Given the description of an element on the screen output the (x, y) to click on. 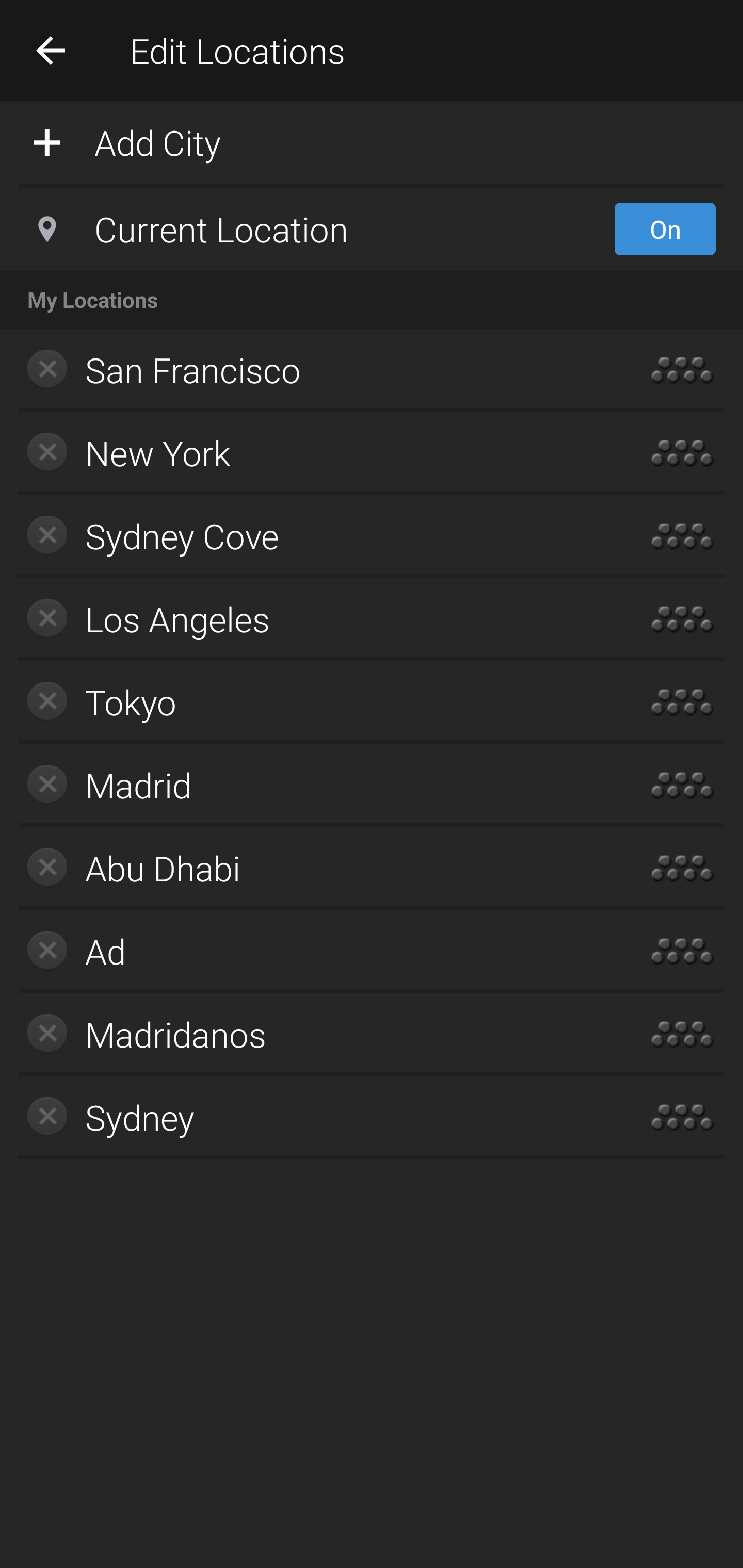
Navigate up (50, 50)
Add City (371, 141)
Current Location: On Current Location On (371, 229)
Delete: San Francisco San Francisco (311, 369)
Delete: New York New York (311, 452)
Delete: Sydney Cove Sydney Cove (311, 535)
Delete: Los Angeles Los Angeles (311, 618)
Delete: Tokyo Tokyo (311, 701)
Delete: Madrid Madrid (311, 784)
Delete: Abu Dhabi Abu Dhabi (311, 867)
Delete: Ad Ad (311, 950)
Delete: Madridanos Madridanos (311, 1033)
Delete: Sydney Sydney (311, 1116)
